Given the description of an element on the screen output the (x, y) to click on. 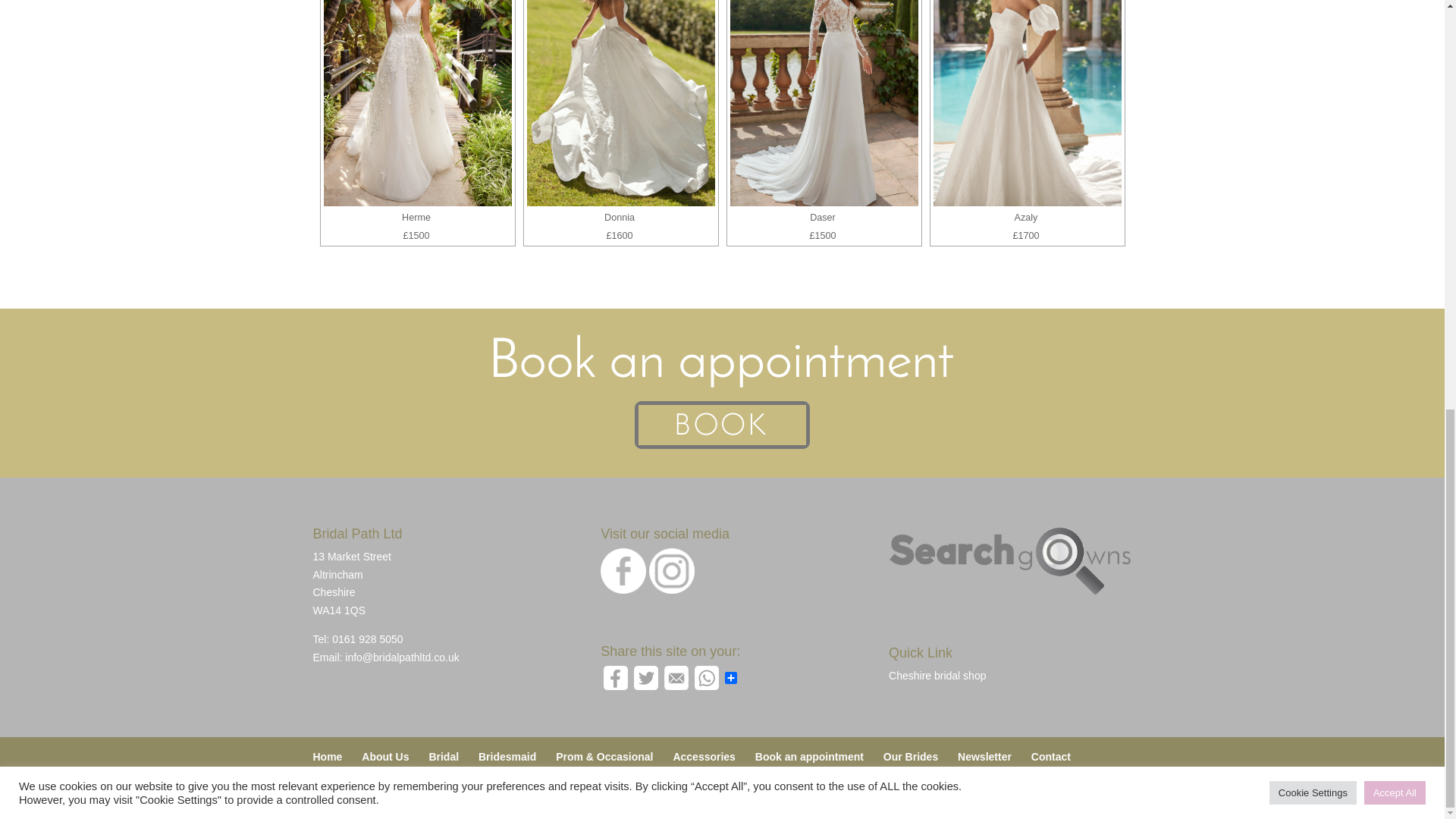
book a bridal appointment altrincham cheshire (721, 392)
